Given the description of an element on the screen output the (x, y) to click on. 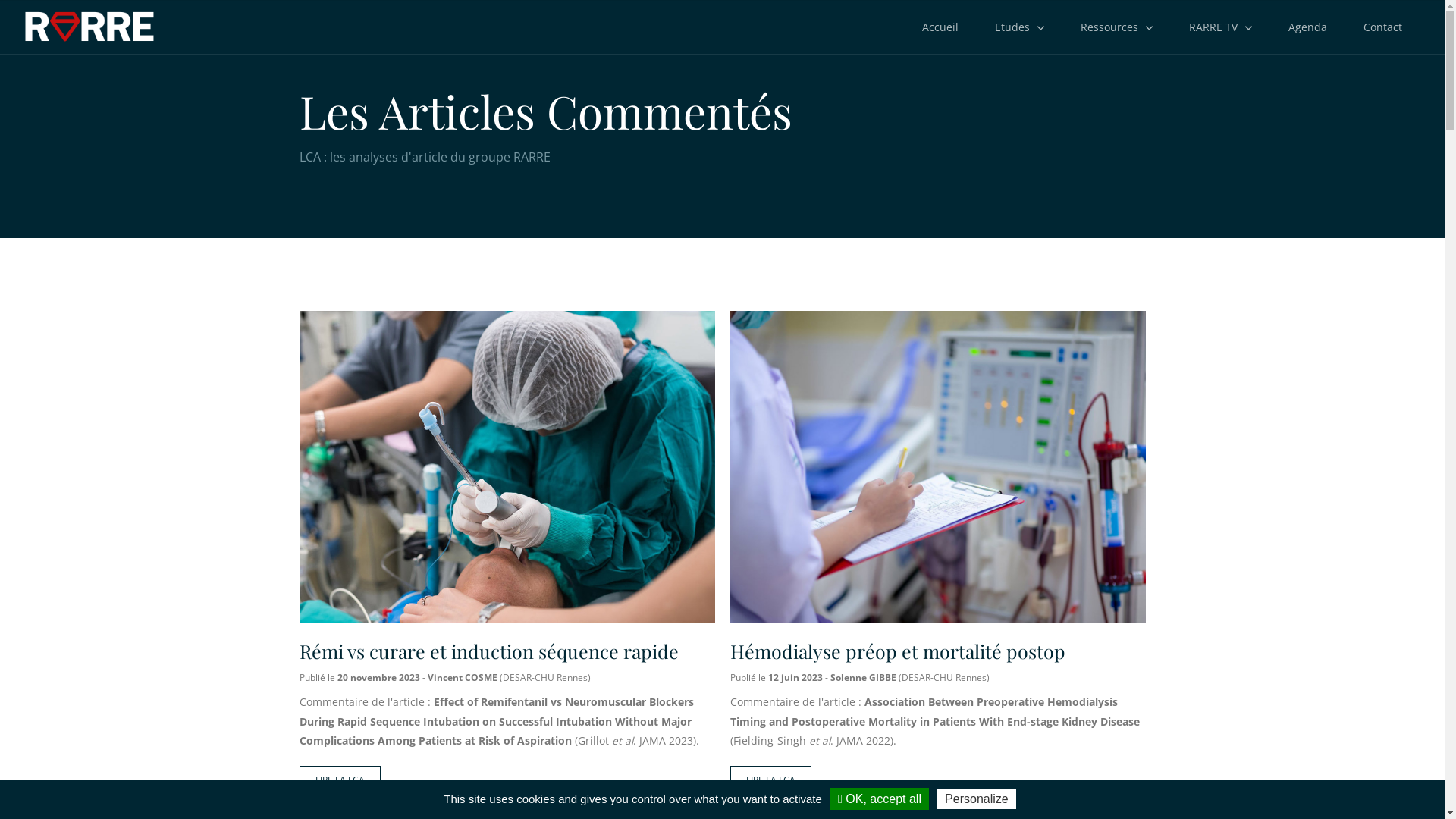
LIRE LA LCA Element type: text (338, 780)
Accueil Element type: text (939, 26)
Agenda Element type: text (1307, 26)
LIRE LA LCA Element type: text (769, 780)
Etudes Element type: text (1019, 26)
Personalize Element type: text (976, 798)
RARRE TV Element type: text (1220, 26)
Contact Element type: text (1382, 26)
Ressources Element type: text (1116, 26)
